Given the description of an element on the screen output the (x, y) to click on. 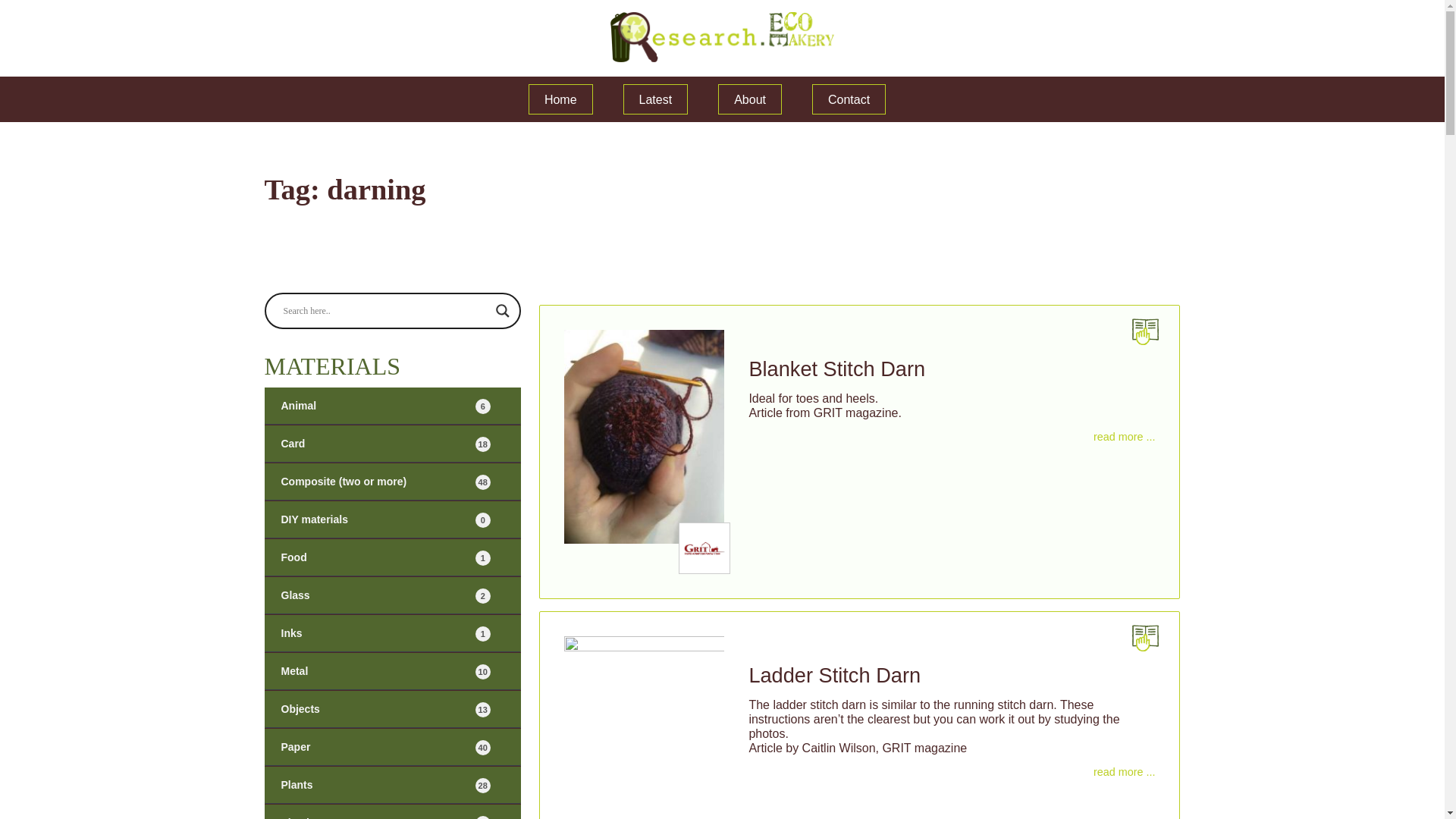
About (749, 99)
Home (560, 99)
Contact (391, 671)
Instructions (391, 633)
